Given the description of an element on the screen output the (x, y) to click on. 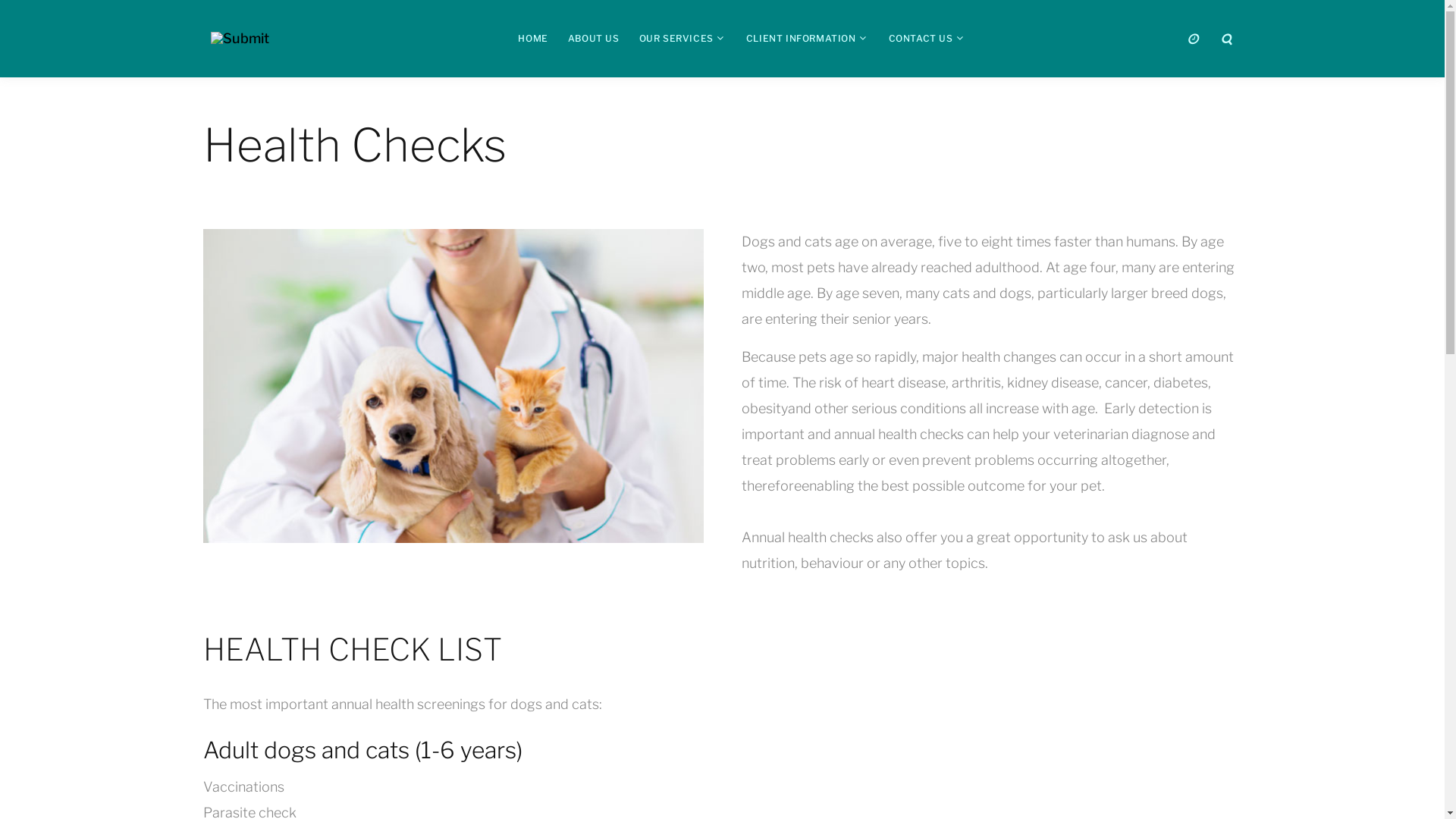
ABOUT US Element type: text (593, 37)
CONTACT US Element type: text (920, 37)
HOME Element type: text (532, 37)
OUR SERVICES Element type: text (676, 37)
CLIENT INFORMATION Element type: text (801, 37)
